Given the description of an element on the screen output the (x, y) to click on. 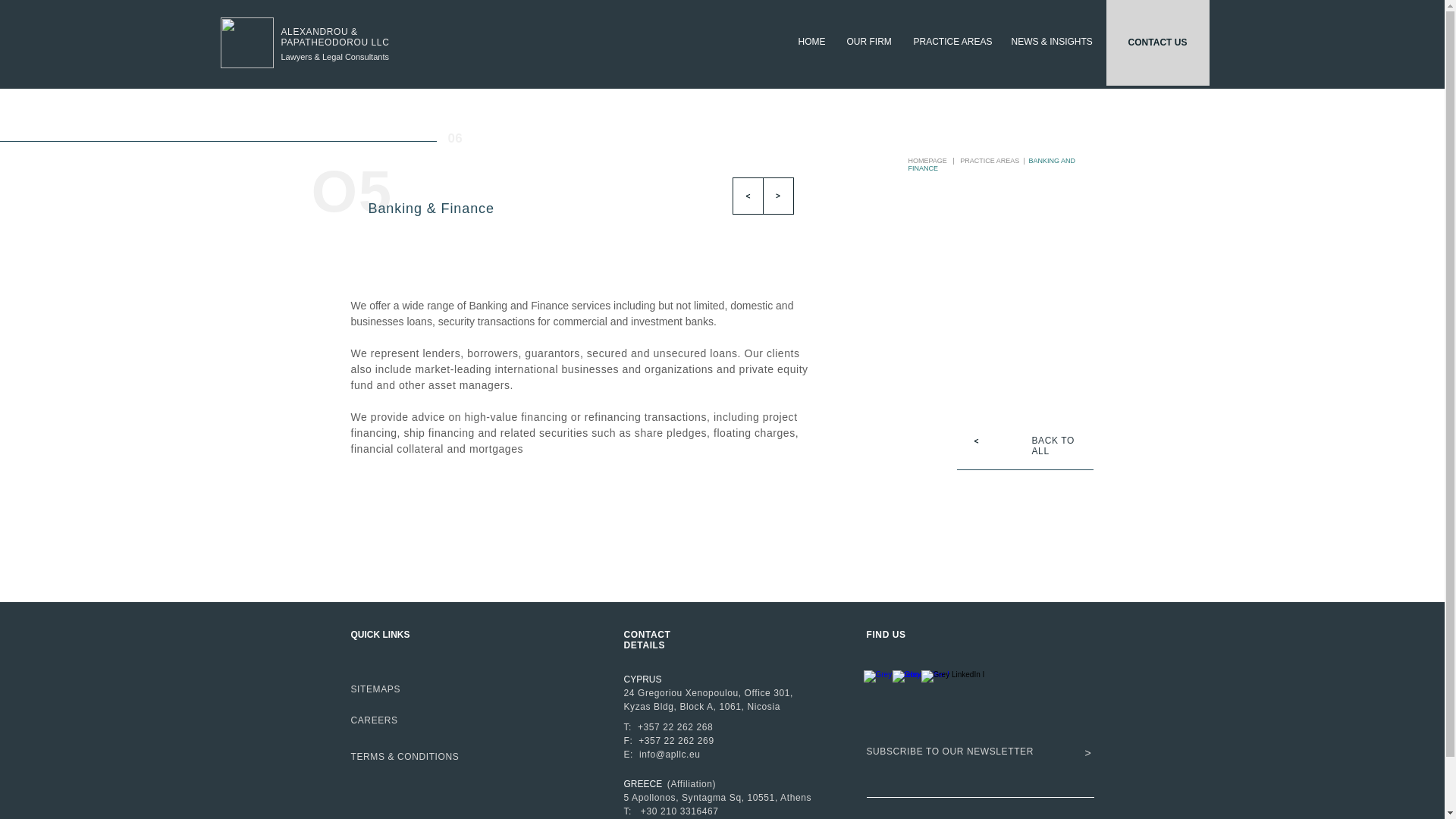
CAREERS (373, 719)
CONTACT  DETAILS (647, 639)
HOME (811, 41)
CONTACT US (1156, 42)
FIND US (885, 634)
OUR FIRM (868, 41)
06 (454, 138)
PRACTICE AREAS (951, 41)
O5 (351, 191)
QUICK LINKS (379, 634)
